Given the description of an element on the screen output the (x, y) to click on. 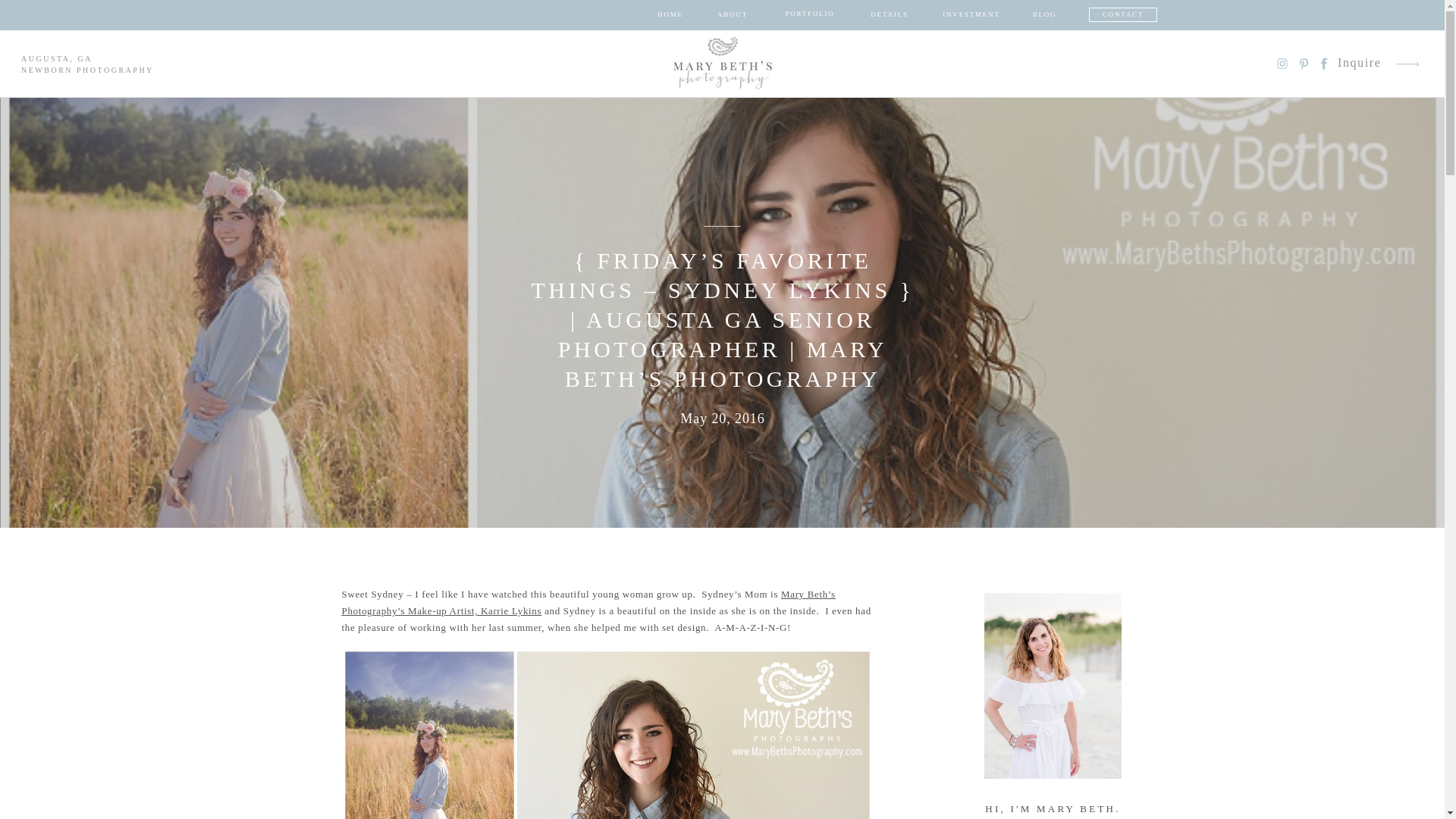
BLOG (1044, 15)
DETAILS (889, 15)
ABOUT (732, 15)
arrow (1407, 63)
PORTFOLIO (810, 14)
CONTACT (1122, 15)
Inquire  (1360, 64)
INVESTMENT (970, 15)
HOME (670, 15)
arrow (1407, 63)
